Given the description of an element on the screen output the (x, y) to click on. 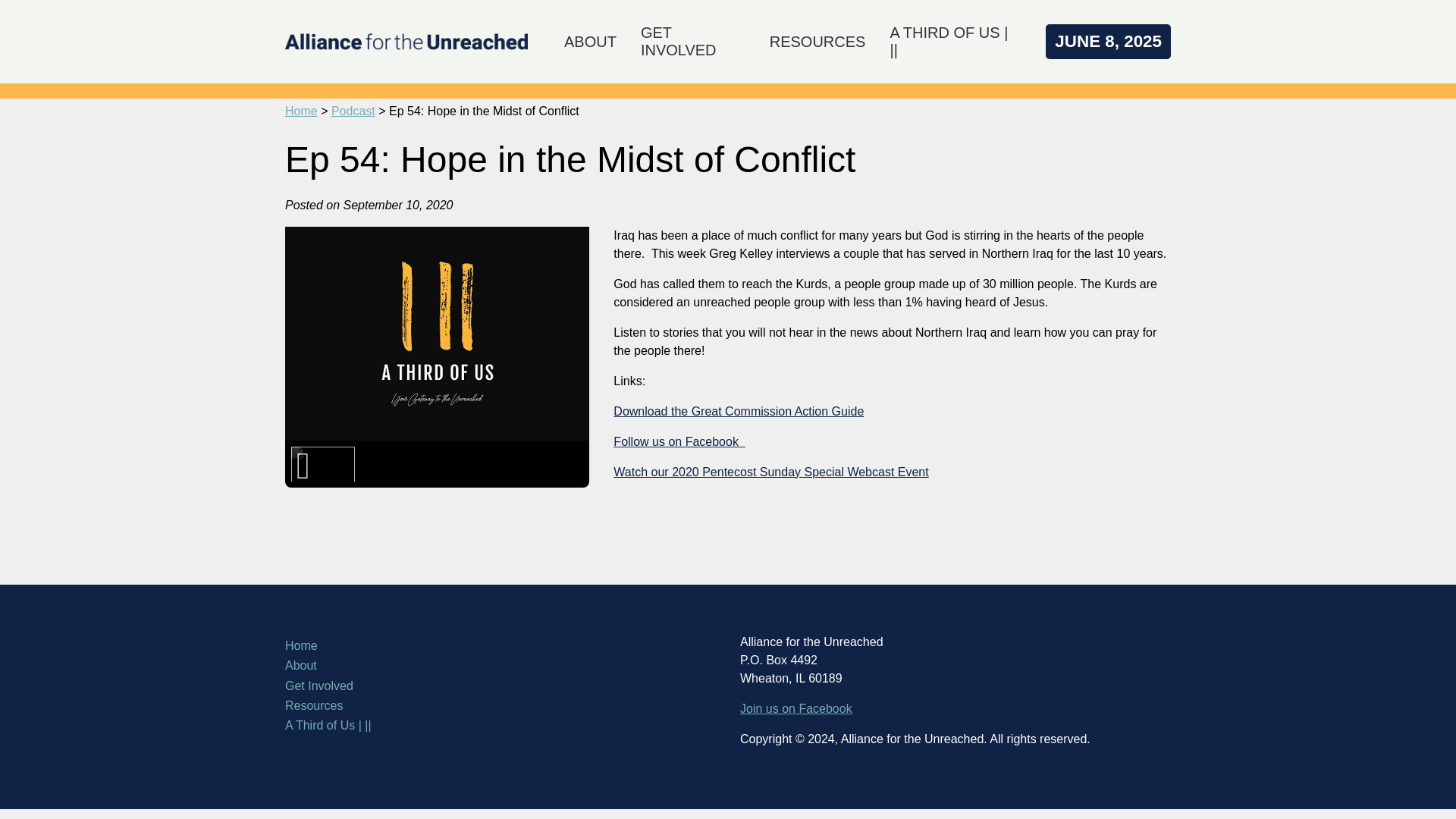
Follow us on Facebook   (678, 440)
JUNE 8, 2025 (1107, 41)
About (500, 665)
Join us on Facebook (795, 707)
Podcast (353, 110)
Resources (500, 705)
GET INVOLVED (692, 41)
Watch our 2020 Pentecost Sunday Special Webcast Event (770, 472)
Get Involved (500, 685)
Home (301, 110)
ABOUT (589, 41)
Home (500, 645)
Podcast (353, 110)
Download the Great Commission Action Guide (737, 410)
RESOURCES (817, 41)
